Given the description of an element on the screen output the (x, y) to click on. 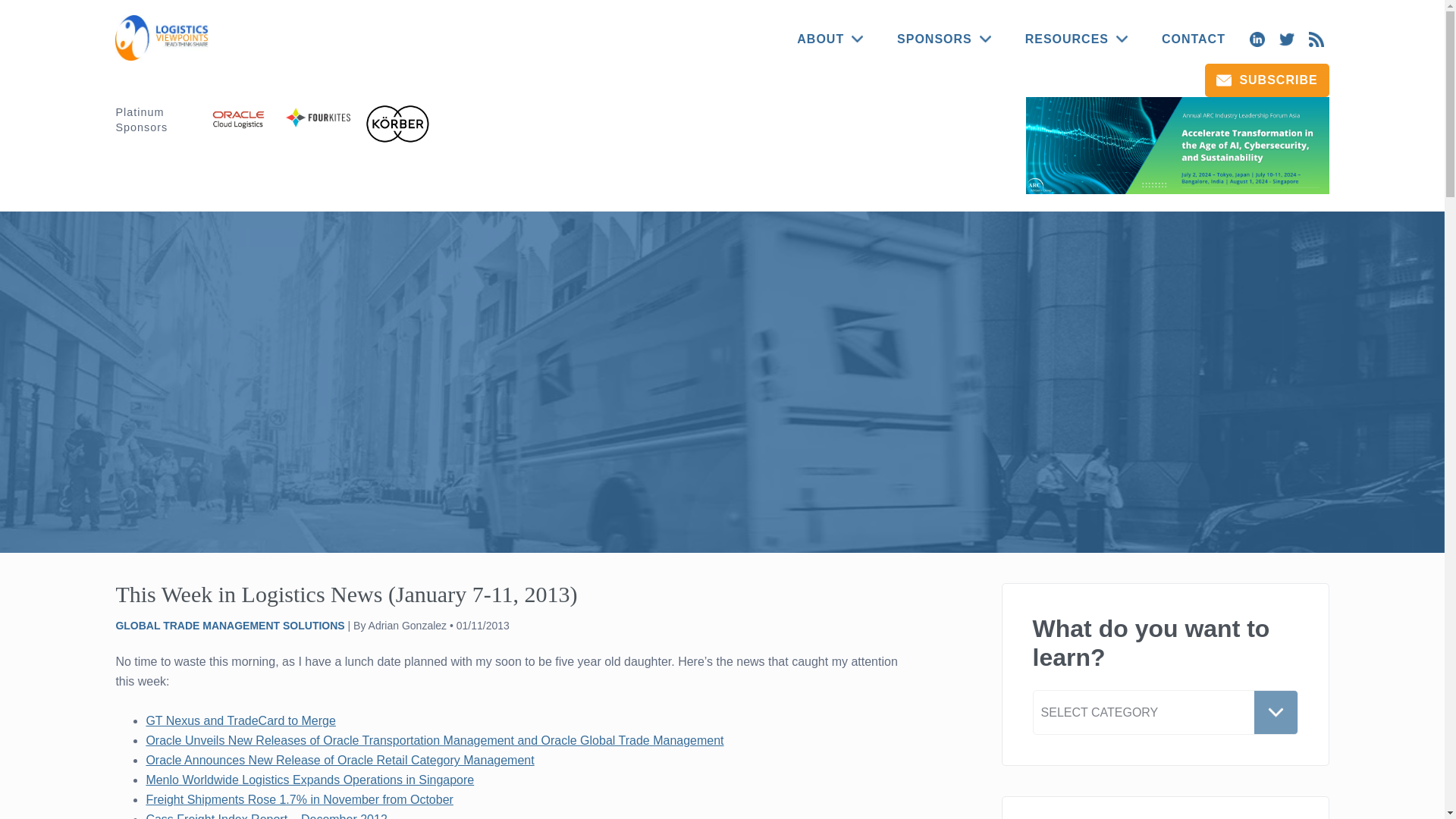
LOGISTICS VIEWPOINTS (164, 37)
CONTACT (1193, 39)
RESOURCES (1076, 39)
ABOUT (829, 39)
SPONSORS (944, 39)
SUBSCRIBE (1266, 80)
